Given the description of an element on the screen output the (x, y) to click on. 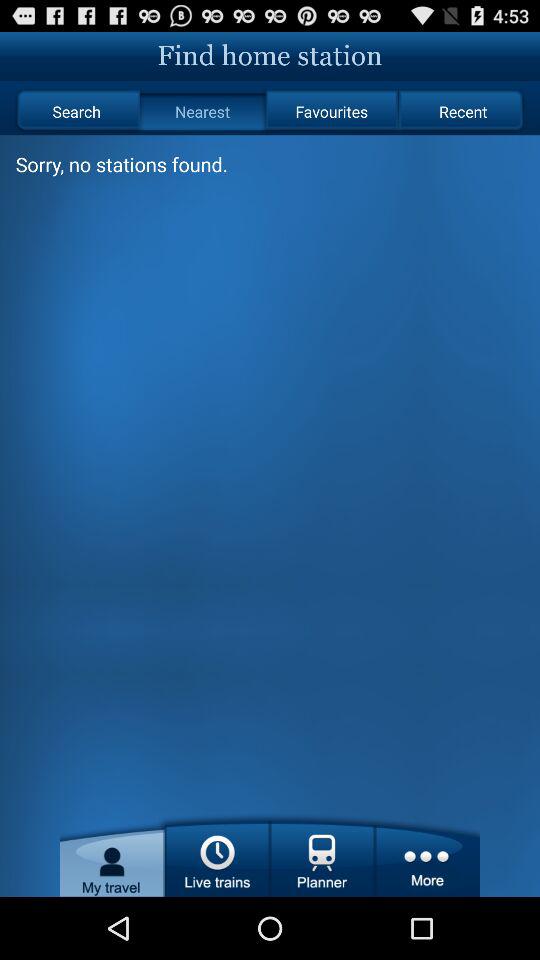
press radio button next to the favourites icon (462, 111)
